Given the description of an element on the screen output the (x, y) to click on. 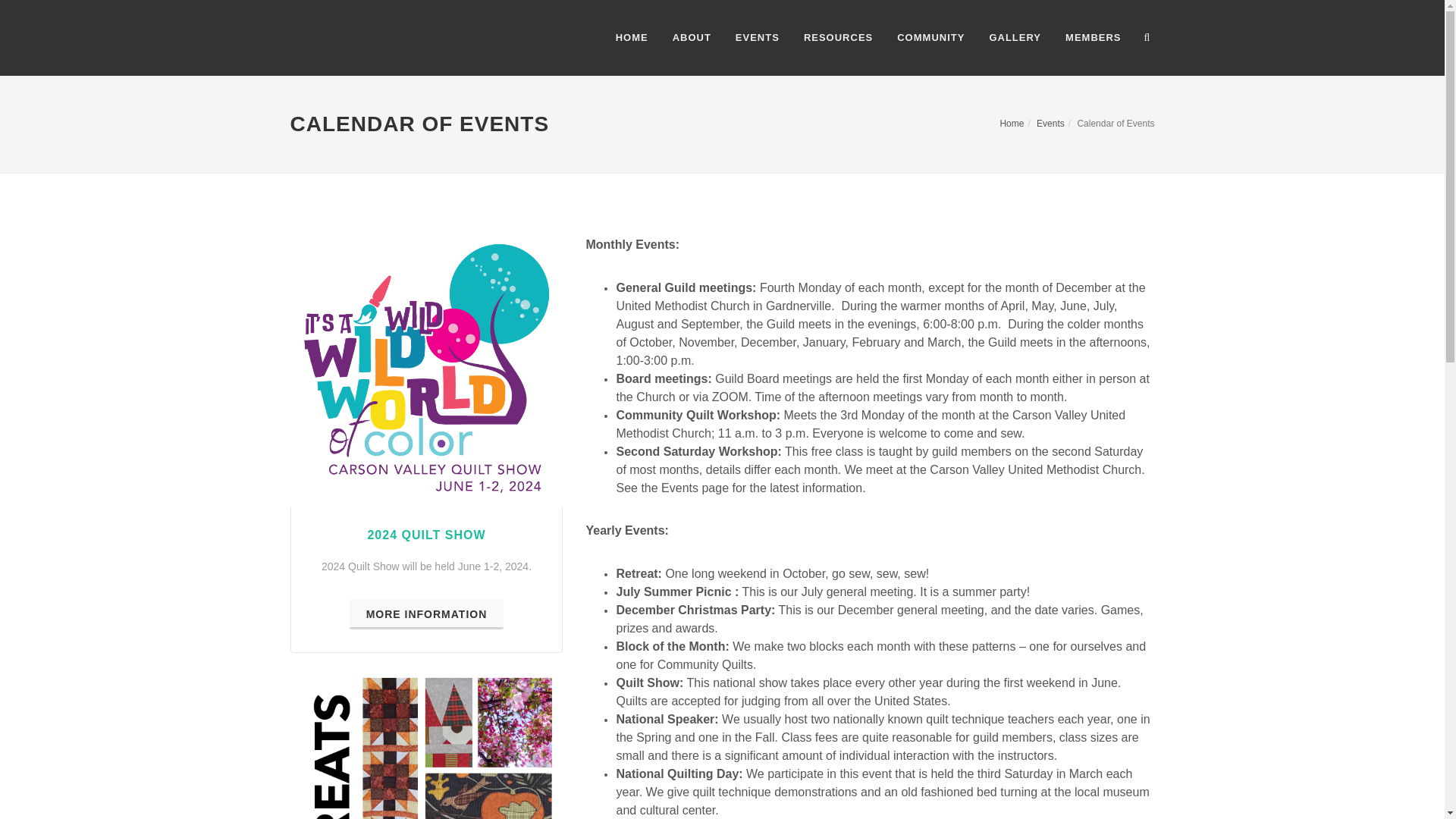
GALLERY (1014, 38)
RESOURCES (837, 38)
Home (1010, 122)
2024 QUILT SHOW (425, 534)
MEMBERS (1093, 38)
Events (1050, 122)
COMMUNITY (930, 38)
MORE INFORMATION (426, 613)
